Given the description of an element on the screen output the (x, y) to click on. 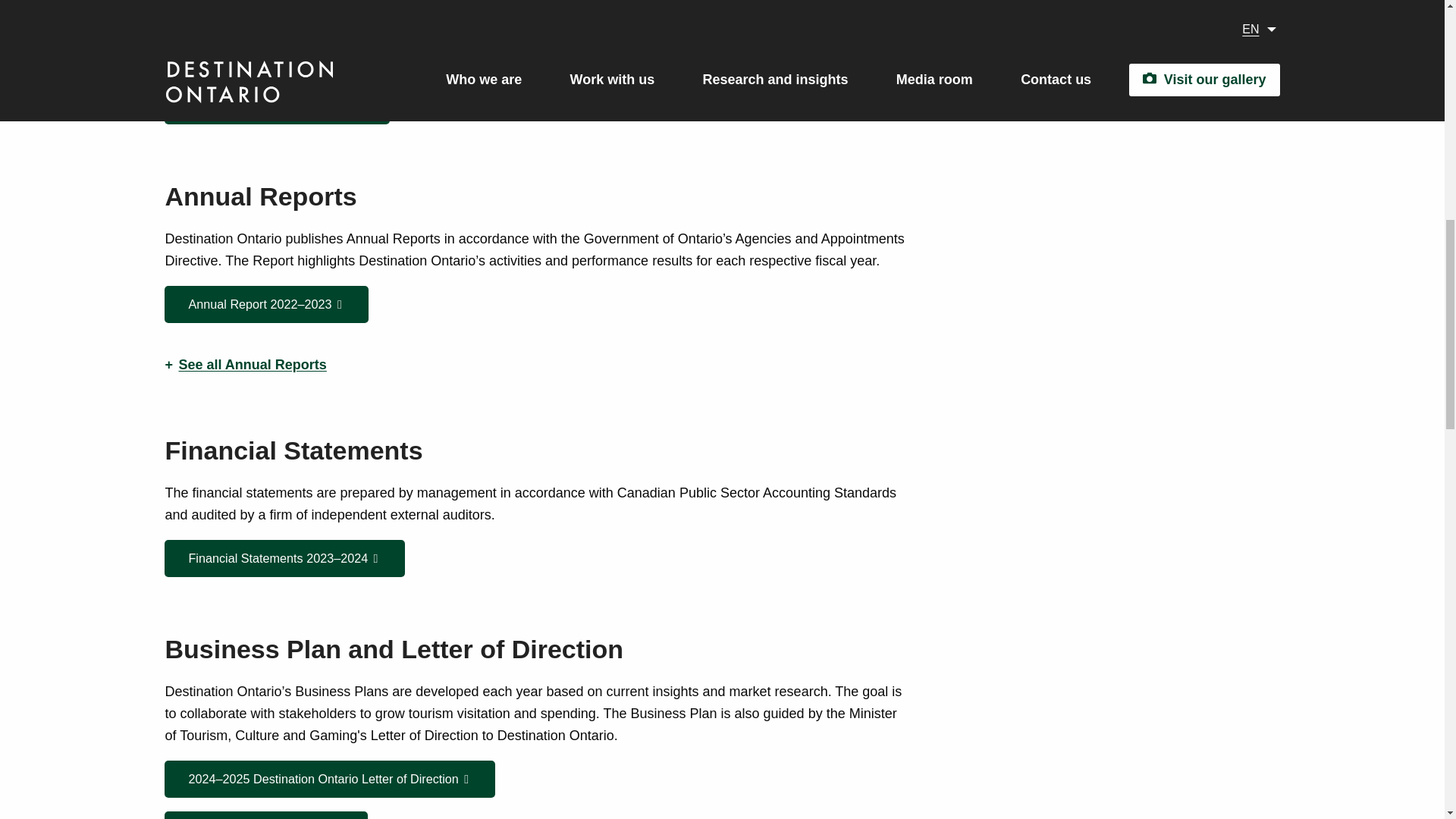
Strategic Playbook 2024-2027  (276, 105)
See all Annual Reports (535, 364)
